Given the description of an element on the screen output the (x, y) to click on. 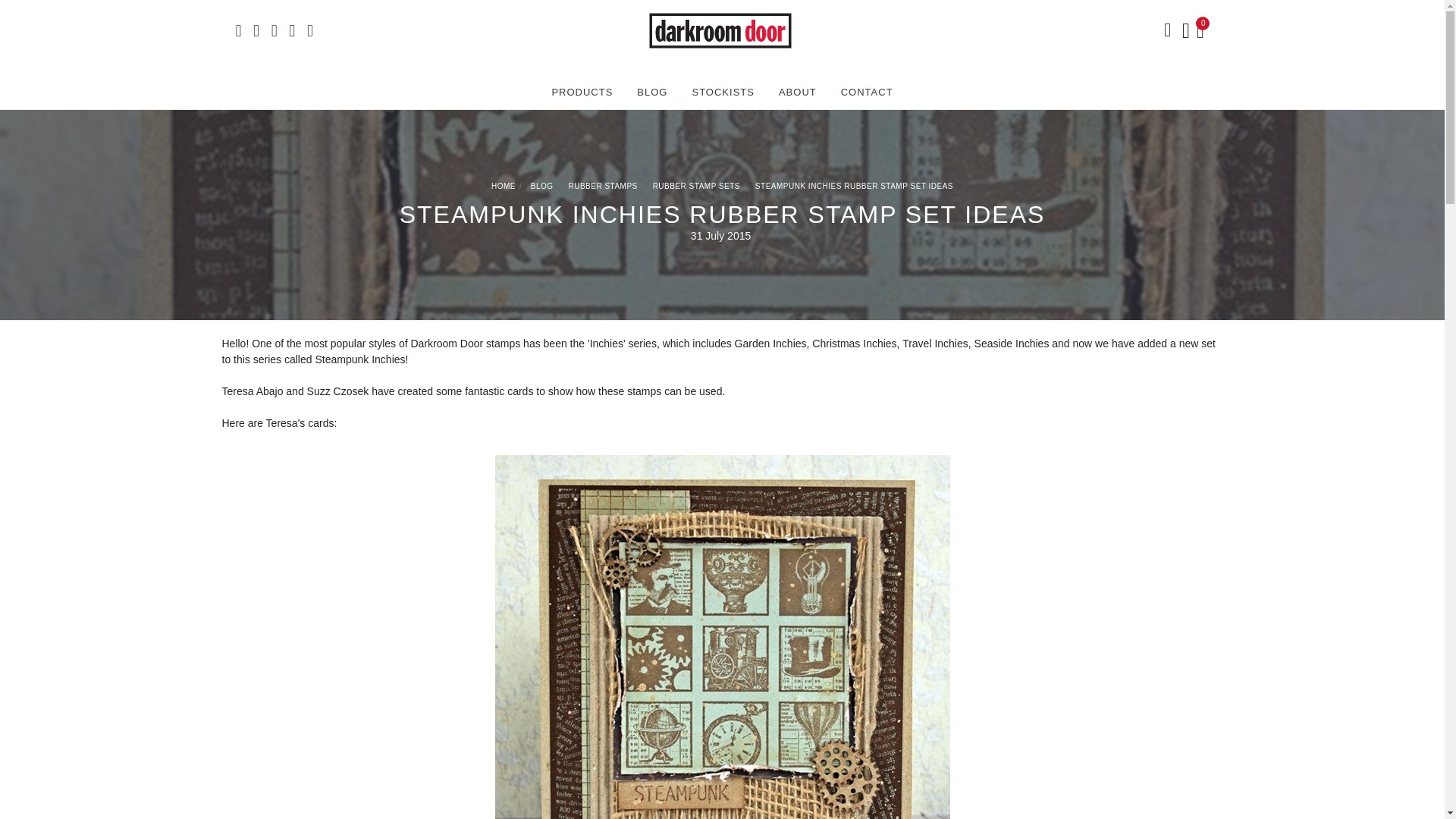
Darkroom Door Pty Ltd (720, 29)
PRODUCTS (581, 92)
0 (1202, 29)
